Given the description of an element on the screen output the (x, y) to click on. 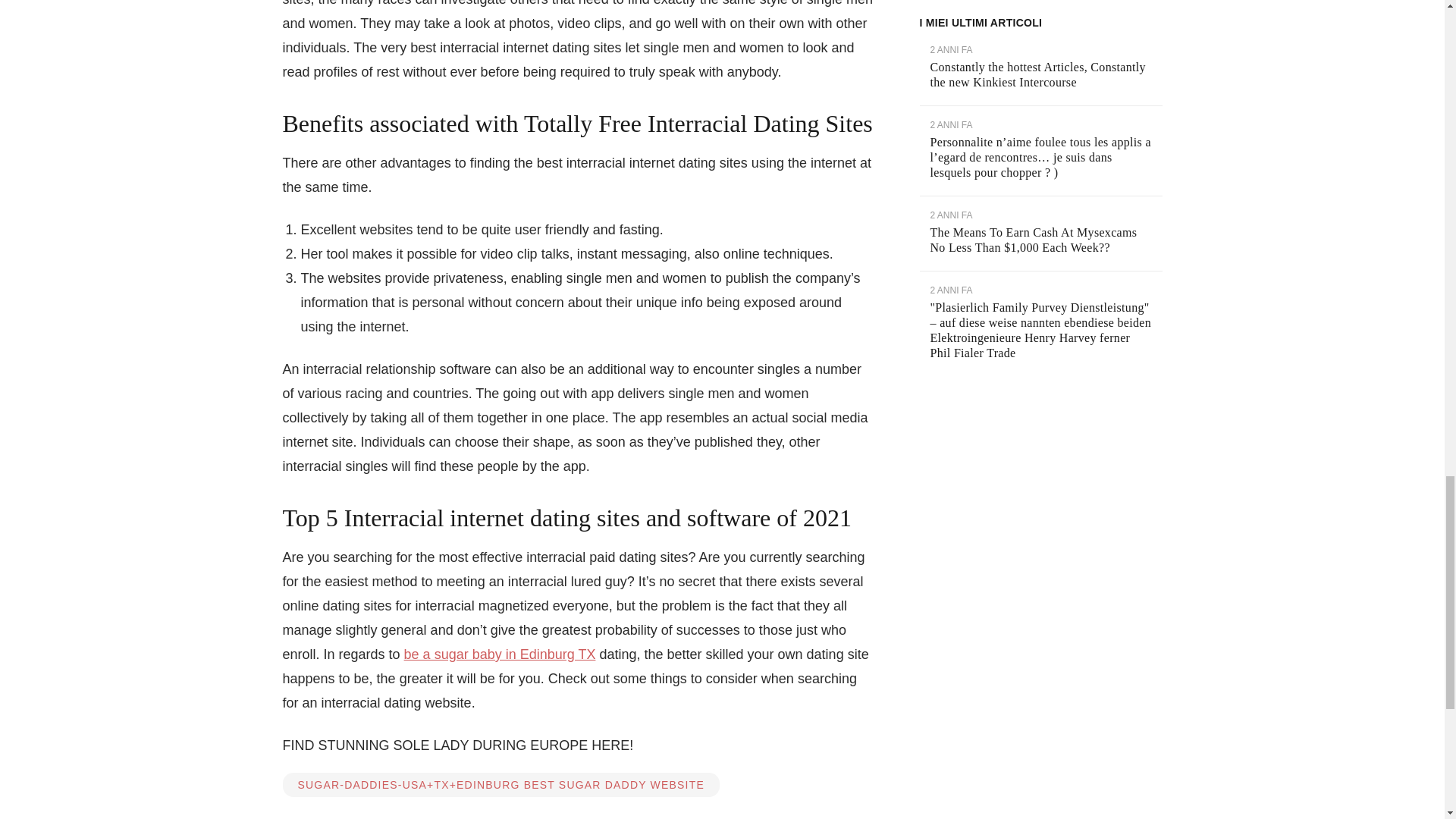
be a sugar baby in Edinburg TX (499, 654)
